Given the description of an element on the screen output the (x, y) to click on. 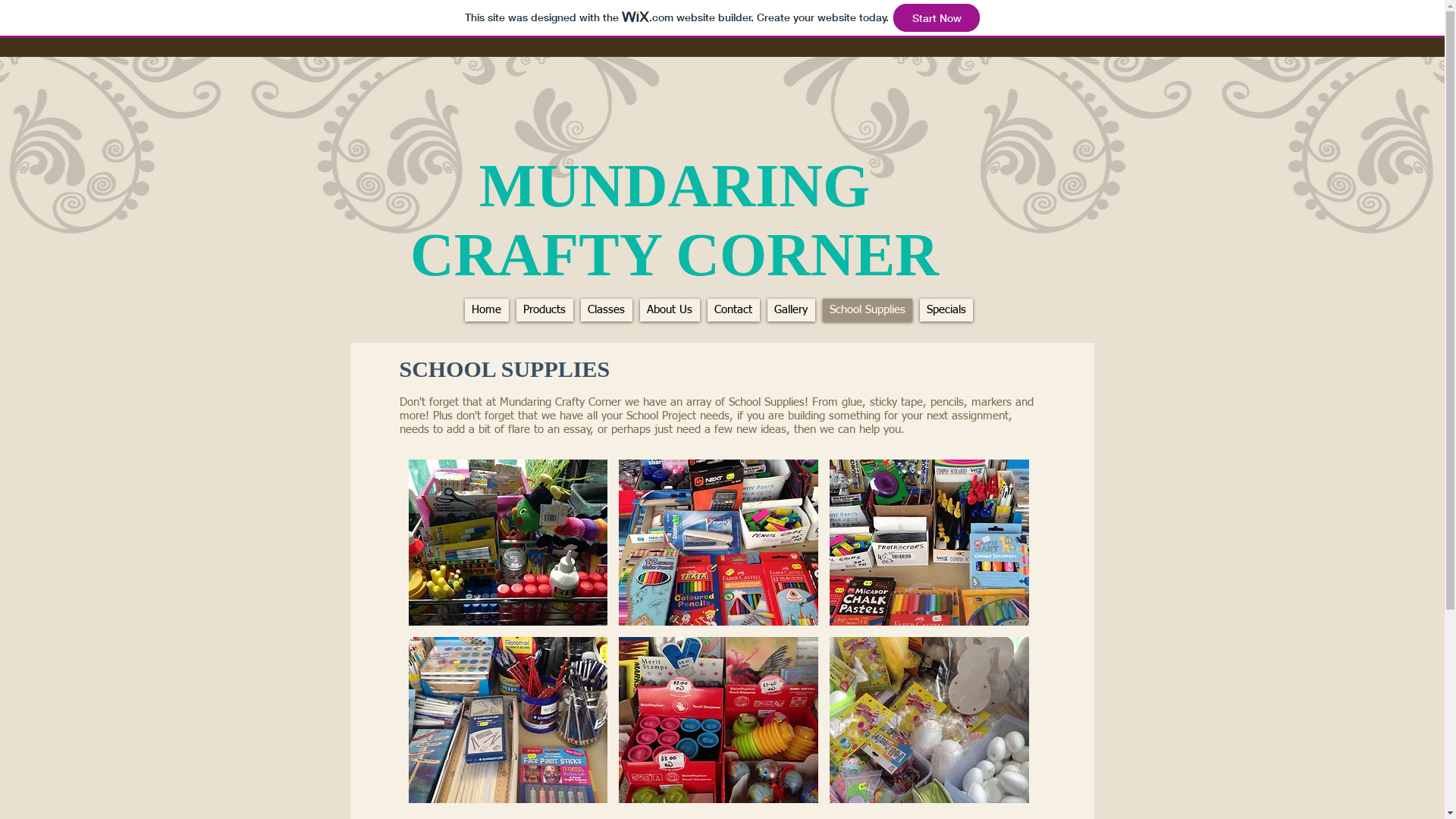
CRAFTY CORNER Element type: text (674, 254)
Home Element type: text (486, 309)
Gallery Element type: text (791, 309)
About Us Element type: text (669, 309)
Specials Element type: text (945, 309)
Classes Element type: text (606, 309)
MUNDARING Element type: text (674, 185)
Contact Element type: text (732, 309)
School Supplies Element type: text (866, 309)
Products Element type: text (543, 309)
